Given the description of an element on the screen output the (x, y) to click on. 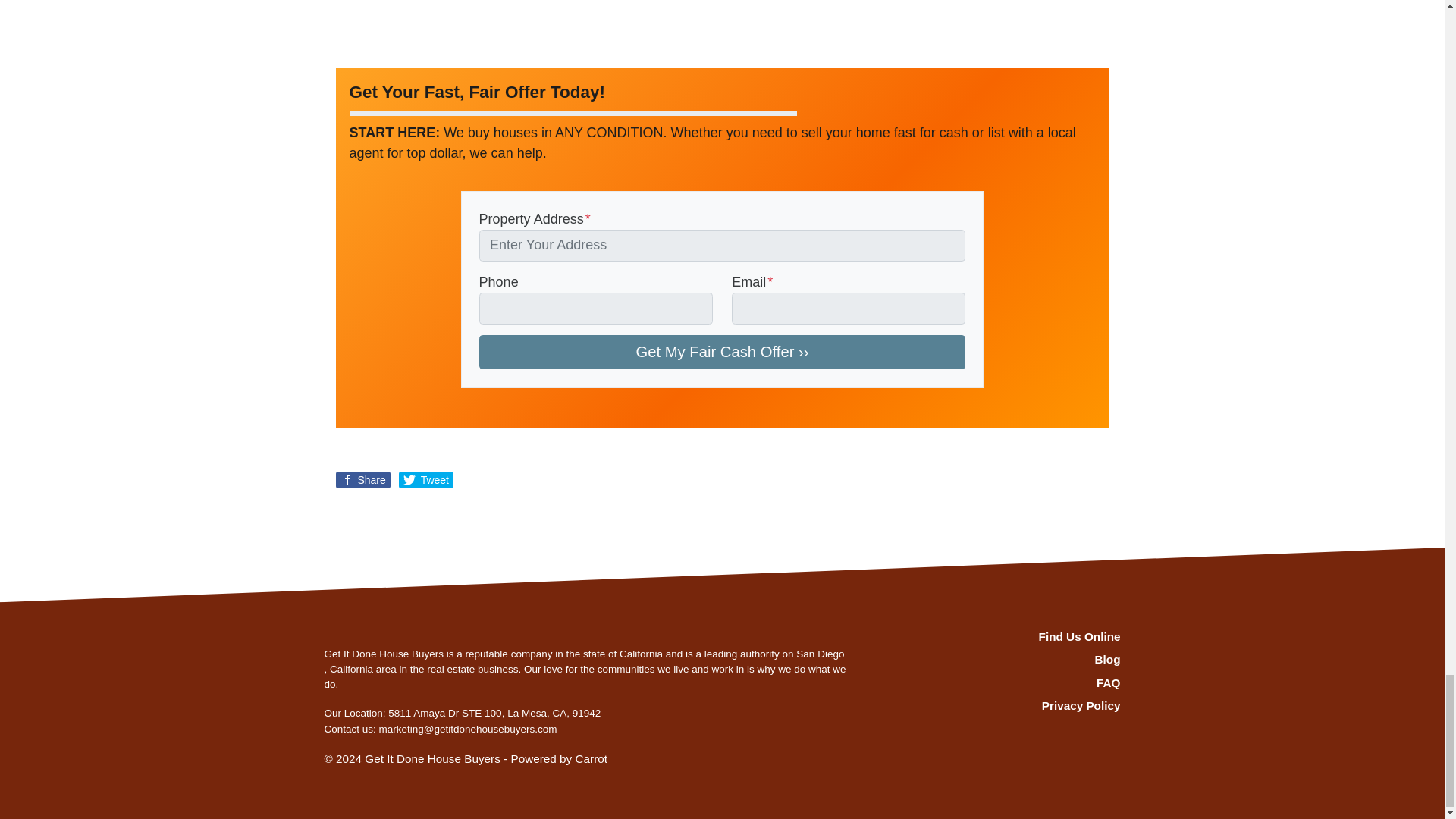
Share on Facebook (362, 479)
Find Us Online (995, 637)
Share (362, 479)
Privacy Policy (995, 705)
Blog (995, 660)
Carrot (591, 758)
Share on Twitter (425, 479)
FAQ (995, 682)
Tweet (425, 479)
